Given the description of an element on the screen output the (x, y) to click on. 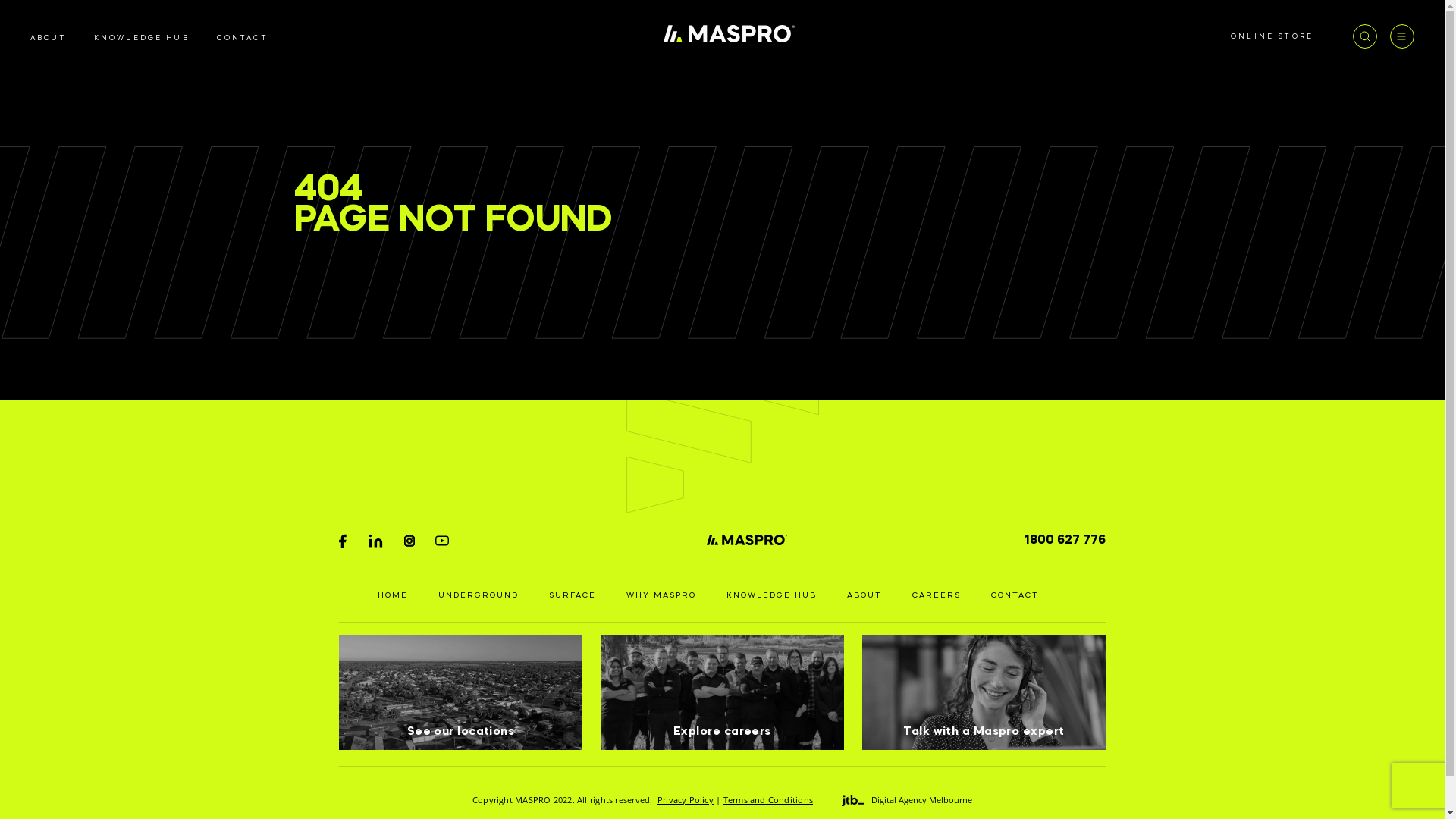
HOME Element type: text (392, 595)
WHY MASPRO Element type: text (661, 595)
SEARCH Element type: text (921, 422)
UNDERGROUND Element type: text (478, 595)
SURFACE Element type: text (572, 595)
Privacy Policy Element type: text (685, 799)
Talk with a Maspro expert Element type: text (983, 691)
CONTACT Element type: text (242, 37)
1800 627 776 Element type: text (1064, 539)
Digital Agency Melbourne Element type: text (906, 799)
Explore careers Element type: text (722, 691)
See our locations Element type: text (460, 691)
ABOUT Element type: text (48, 37)
KNOWLEDGE HUB Element type: text (771, 595)
ABOUT Element type: text (864, 595)
CAREERS Element type: text (936, 595)
ONLINE STORE Element type: text (1271, 35)
KNOWLEDGE HUB Element type: text (141, 37)
CONTACT Element type: text (1014, 595)
Terms and Conditions Element type: text (767, 799)
